Given the description of an element on the screen output the (x, y) to click on. 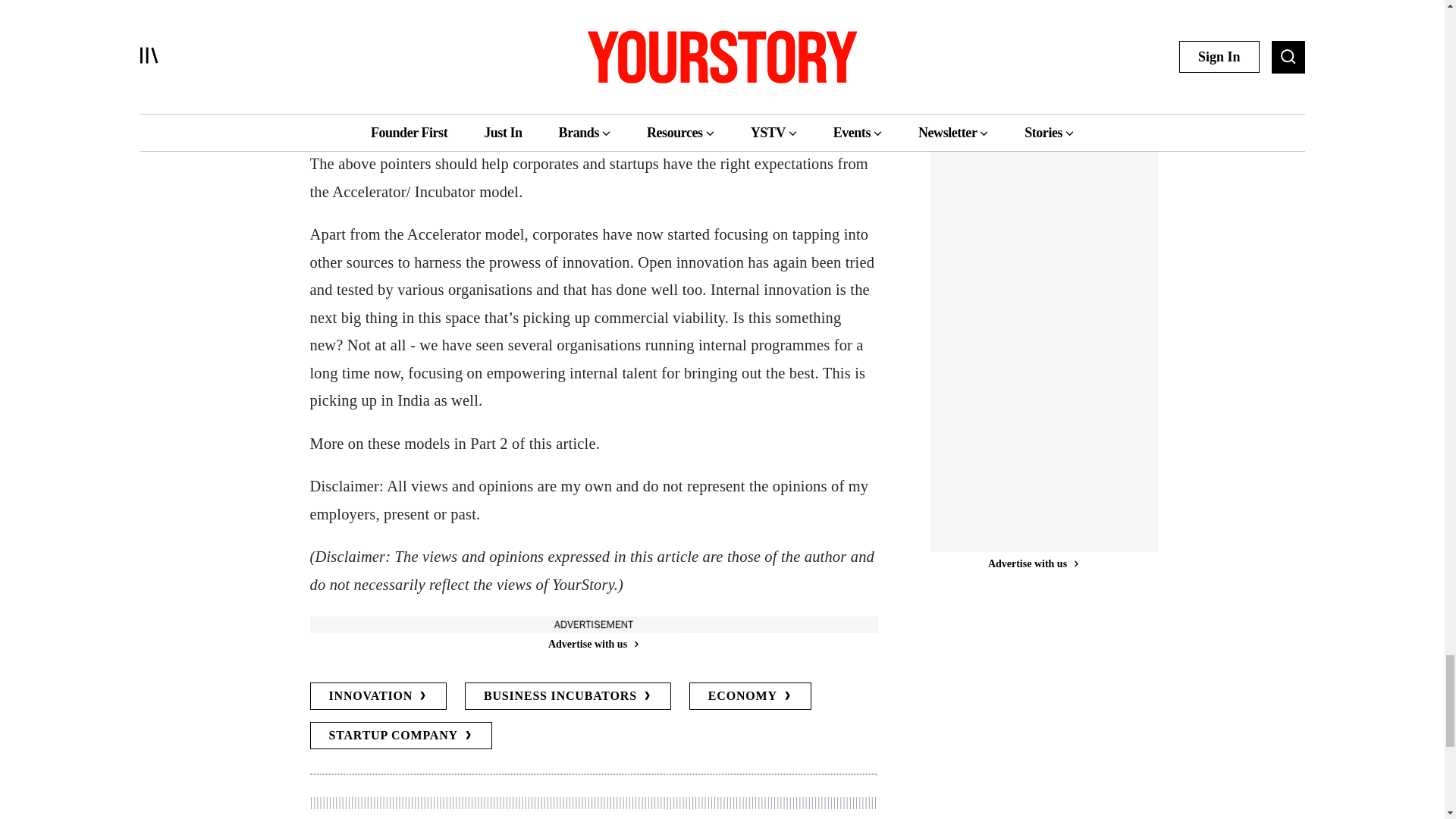
Advertise with us (592, 643)
INNOVATION (377, 696)
ECONOMY (749, 696)
BUSINESS INCUBATORS (567, 696)
STARTUP COMPANY (400, 735)
